Given the description of an element on the screen output the (x, y) to click on. 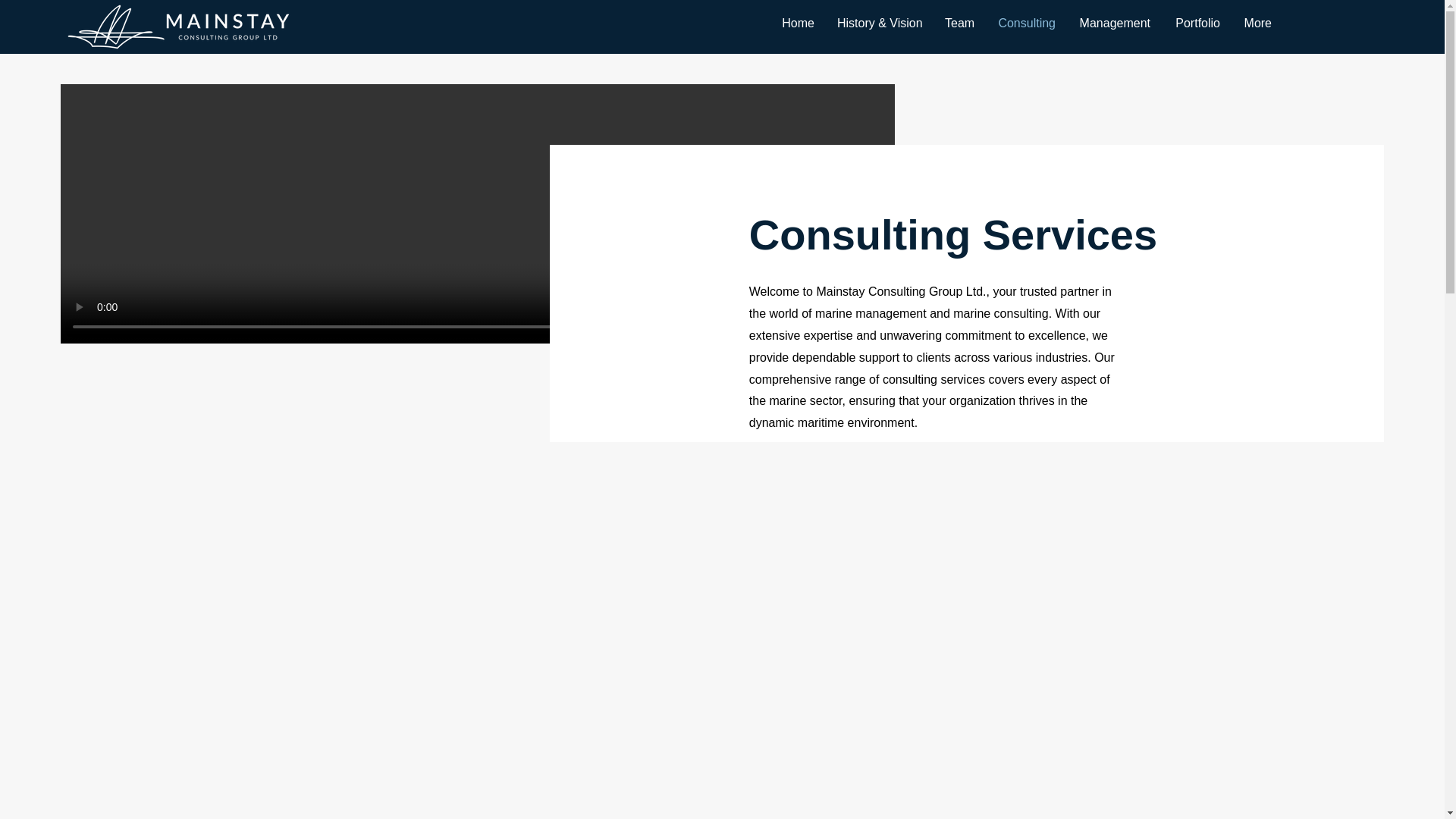
Home (796, 23)
Portfolio (1196, 23)
Management (1114, 23)
Team (959, 23)
Consulting (1026, 23)
